Given the description of an element on the screen output the (x, y) to click on. 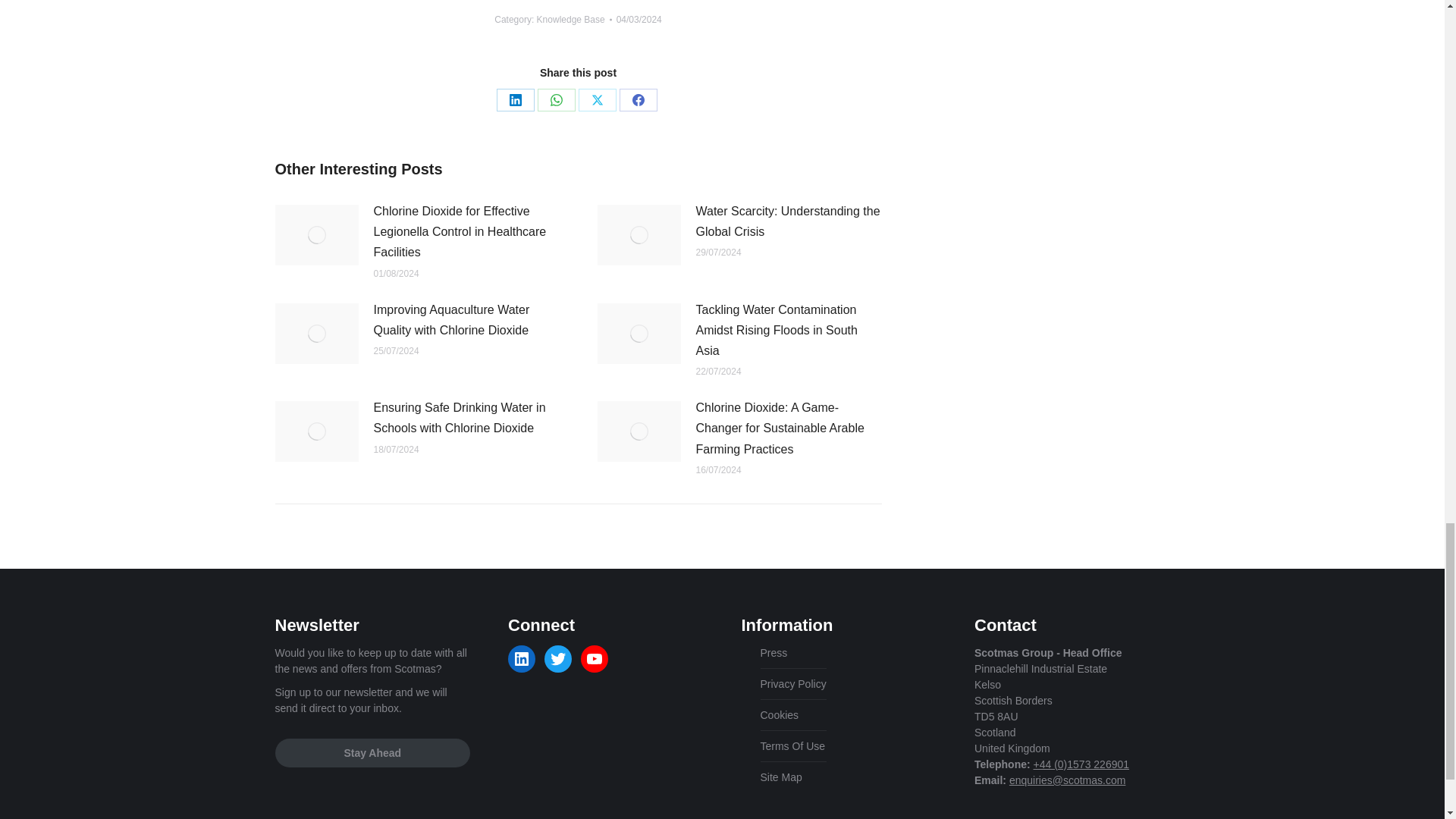
LinkedIn (515, 99)
X (596, 99)
1:35 pm (638, 19)
Facebook (637, 99)
WhatsApp (556, 99)
